Given the description of an element on the screen output the (x, y) to click on. 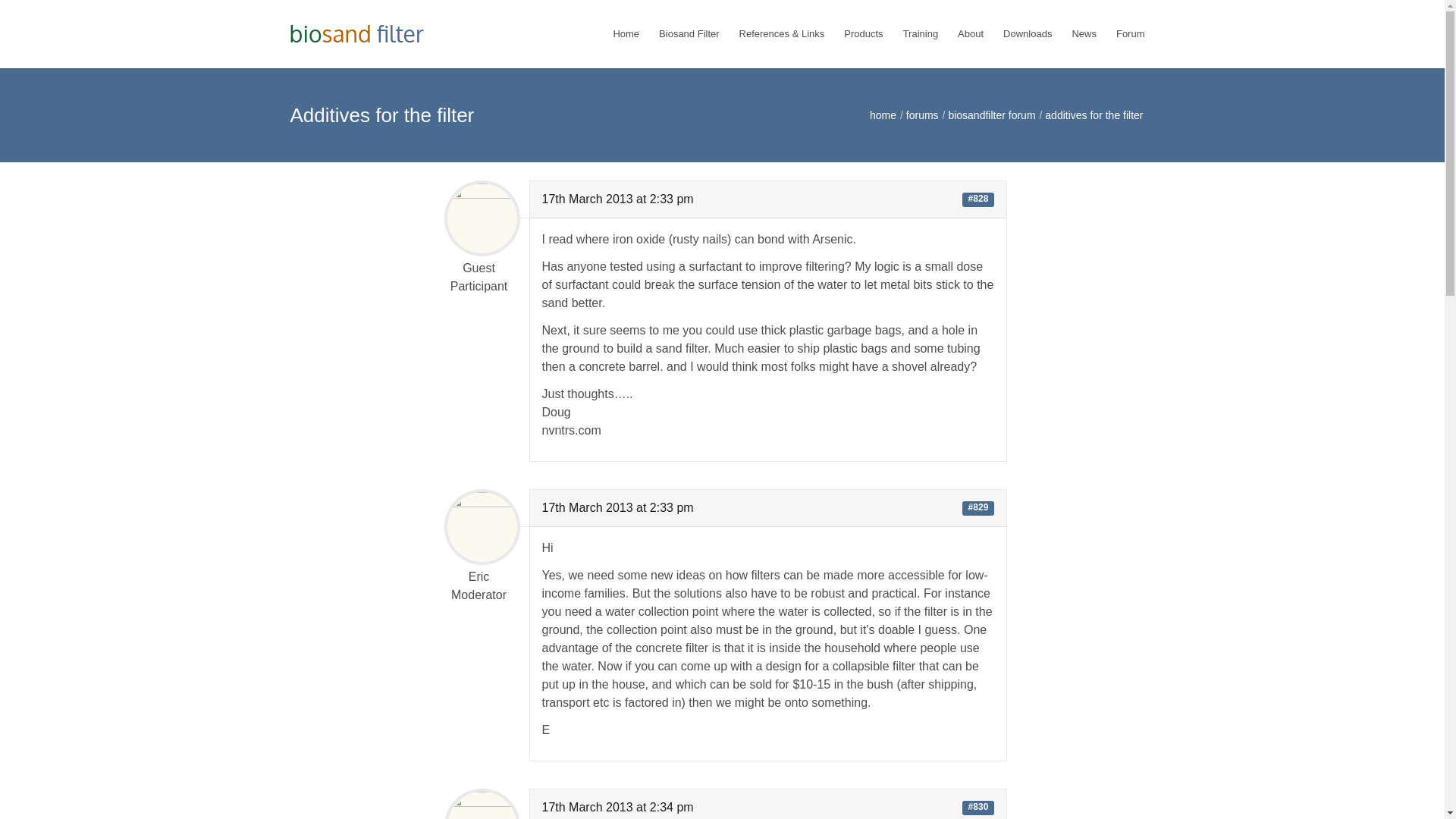
forums (922, 114)
biosandfilter forum (991, 114)
Downloads (1026, 33)
home (882, 114)
Biosand Filter (689, 33)
